Given the description of an element on the screen output the (x, y) to click on. 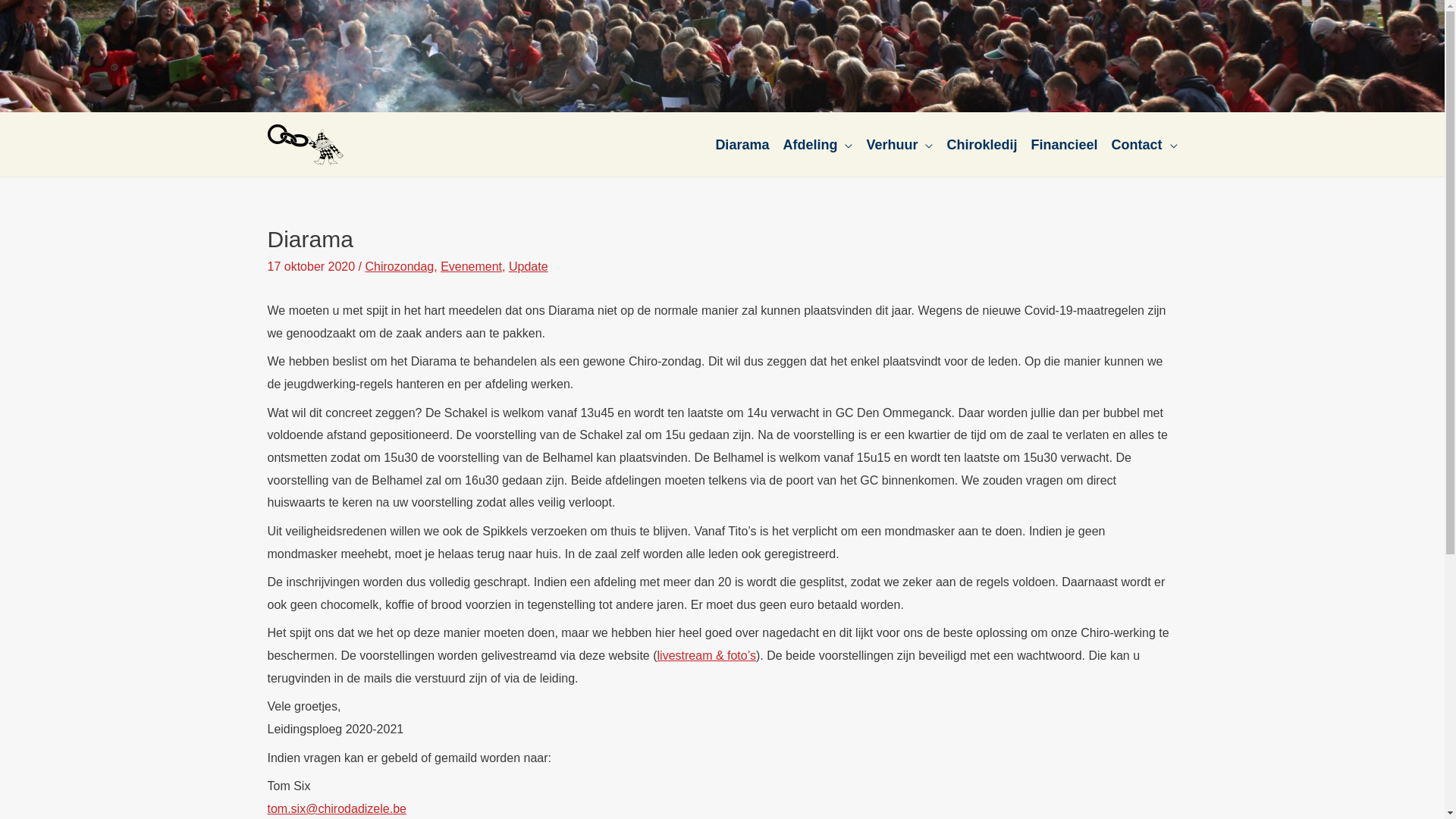
Diarama Element type: text (734, 143)
Update Element type: text (528, 266)
Financieel Element type: text (1056, 143)
Chirozondag Element type: text (399, 266)
tom.six@chirodadizele.be Element type: text (335, 808)
Evenement Element type: text (471, 266)
Afdeling Element type: text (810, 143)
Contact Element type: text (1137, 143)
Verhuur Element type: text (892, 143)
Chirokledij Element type: text (974, 143)
